Given the description of an element on the screen output the (x, y) to click on. 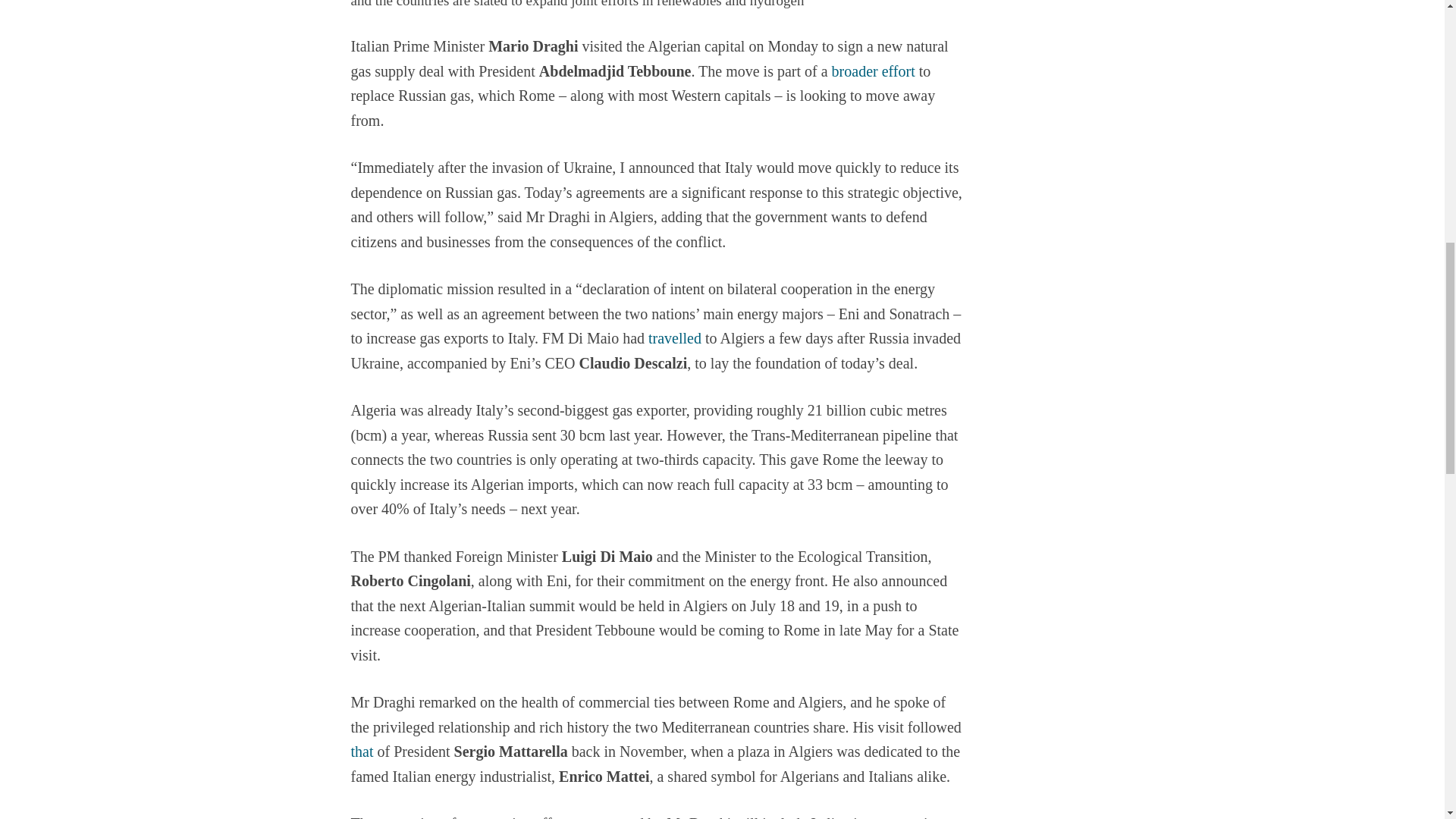
that (361, 752)
broader effort (873, 72)
travelled (674, 339)
